Given the description of an element on the screen output the (x, y) to click on. 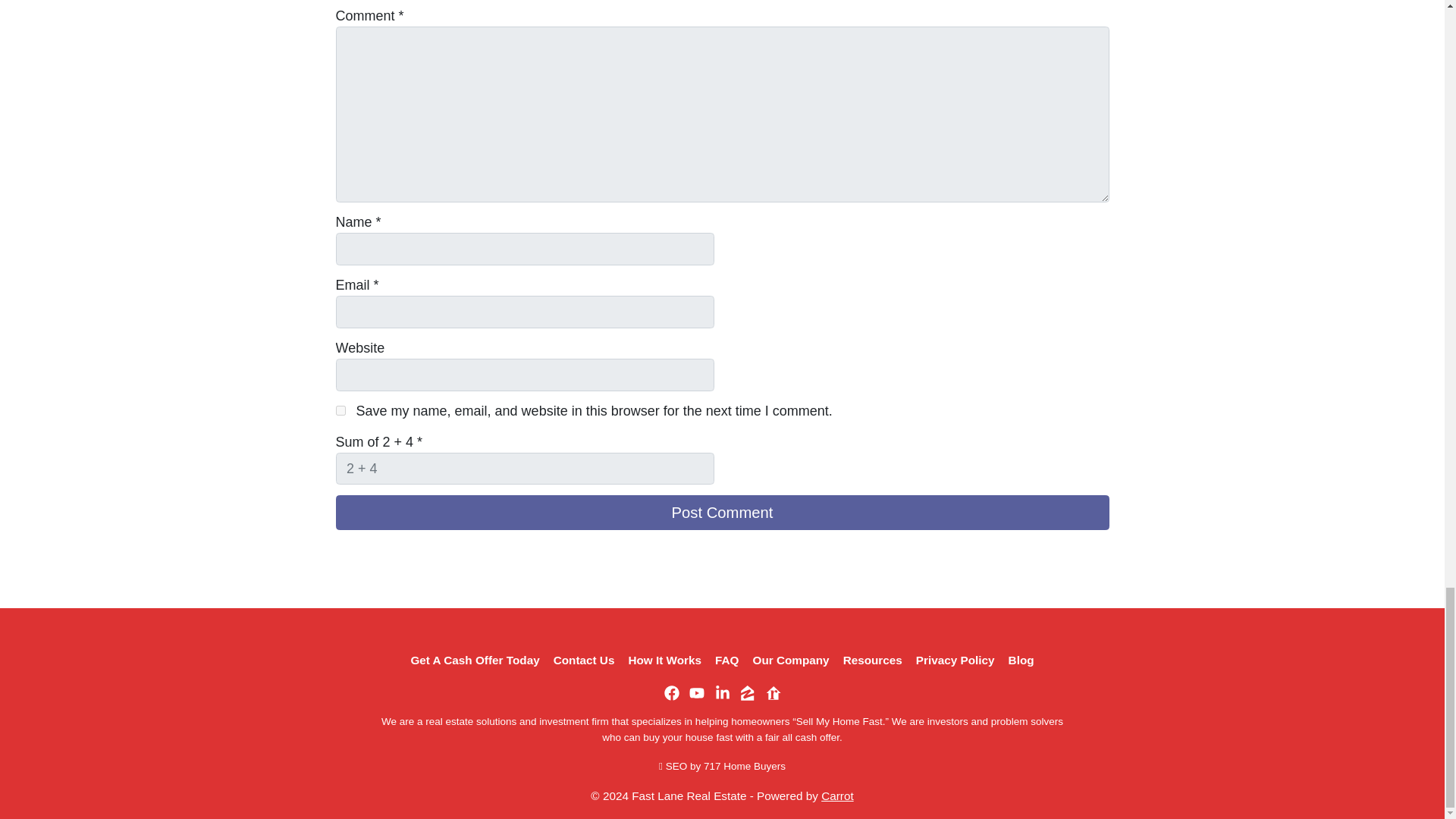
Post Comment (721, 512)
Post Comment (721, 512)
Get A Cash Offer Today (474, 660)
yes (339, 410)
